Given the description of an element on the screen output the (x, y) to click on. 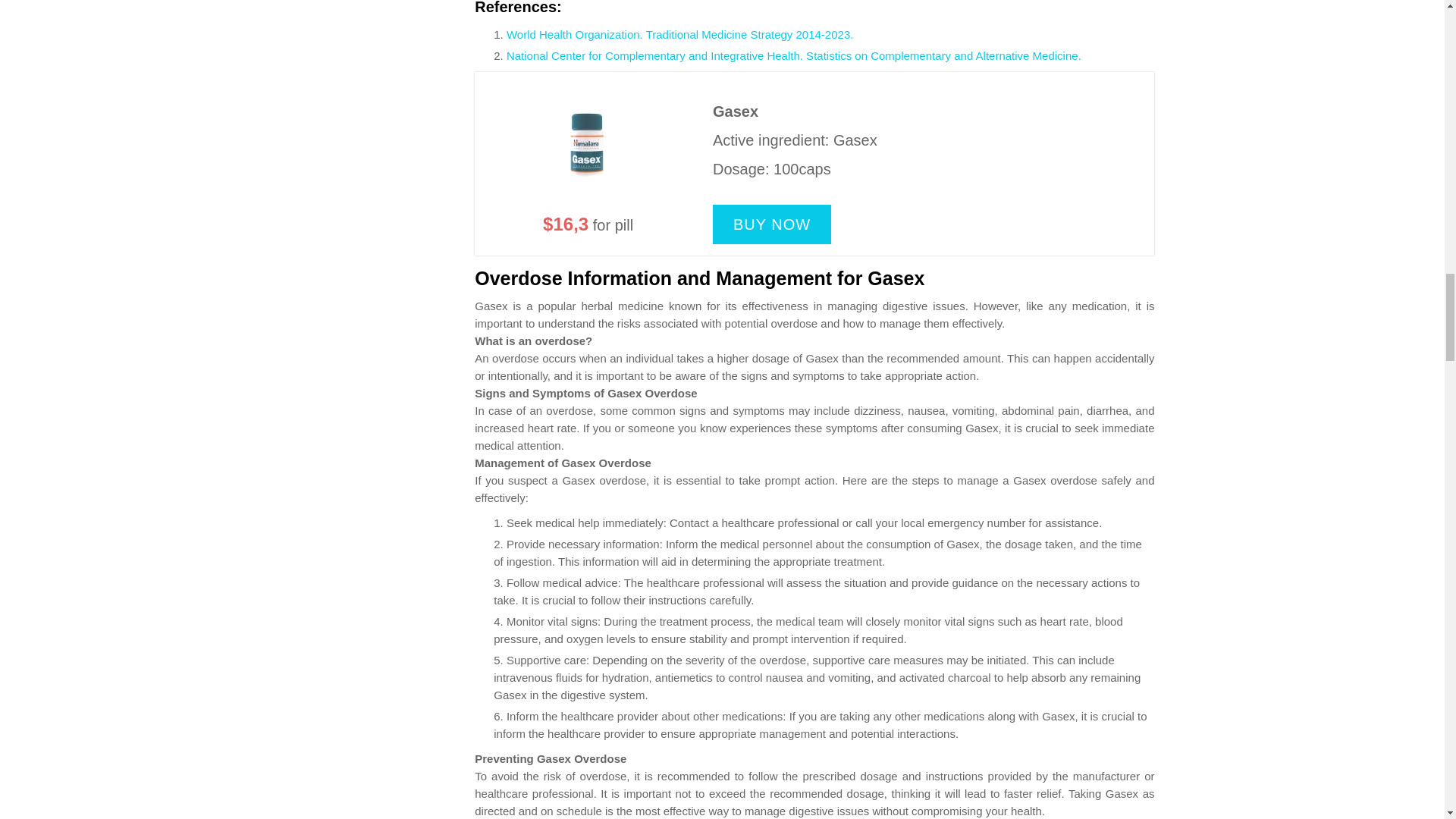
BUY NOW (772, 224)
